Given the description of an element on the screen output the (x, y) to click on. 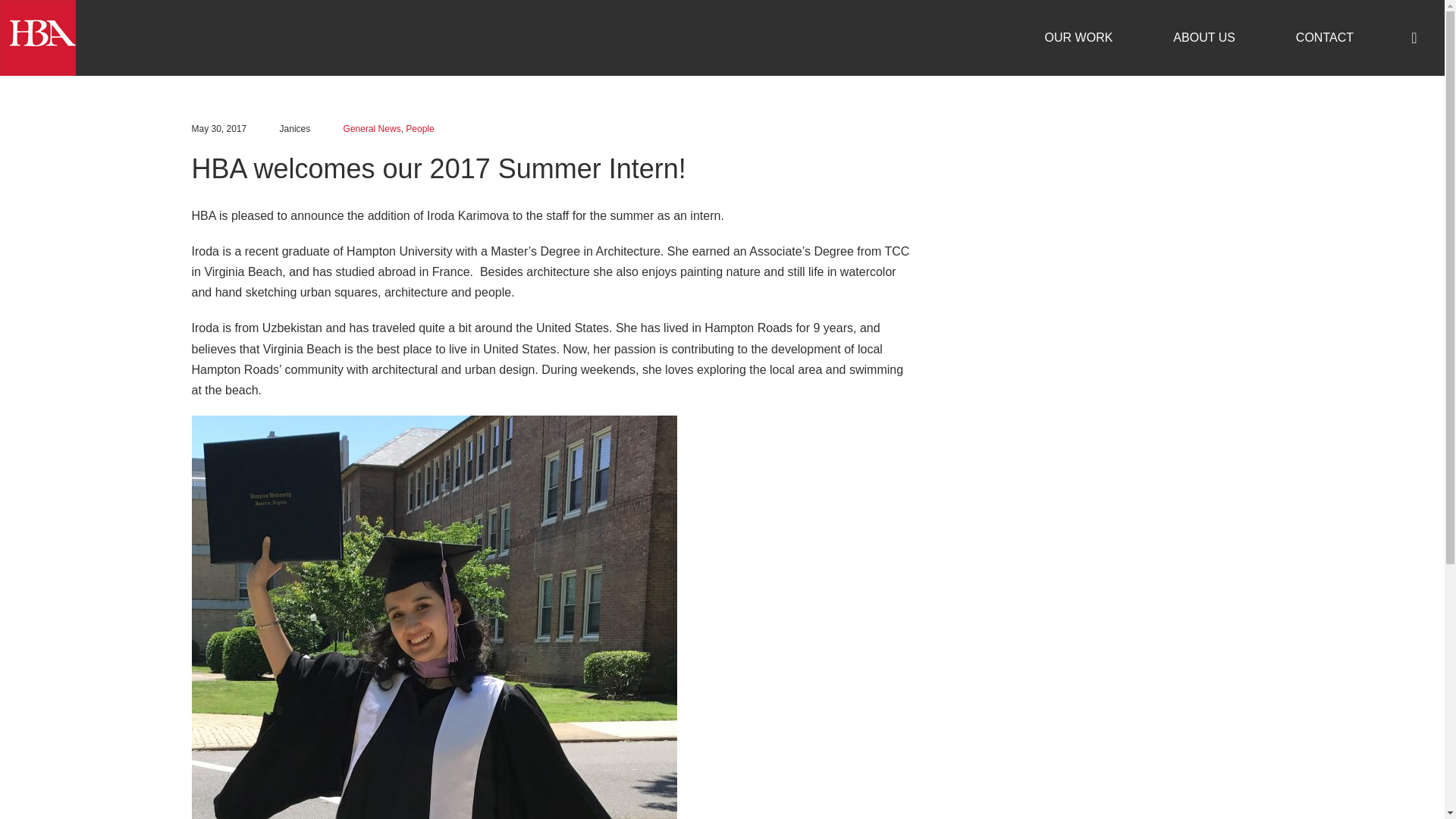
General News (372, 128)
CONTACT (1324, 38)
ABOUT US (1203, 38)
OUR WORK (1078, 38)
People (419, 128)
